Given the description of an element on the screen output the (x, y) to click on. 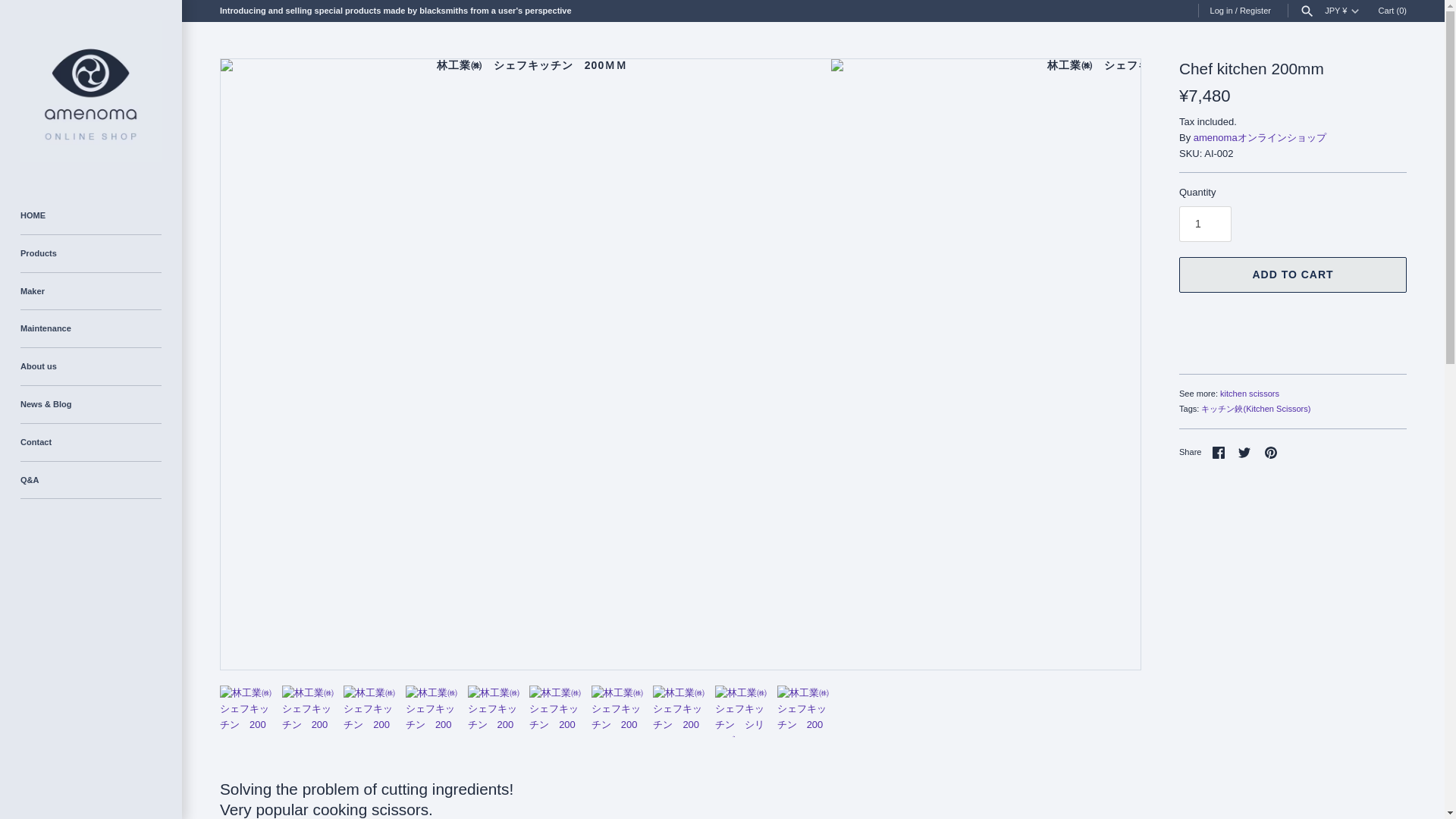
1 (1205, 223)
Twitter (1244, 452)
Products (90, 253)
Facebook (1218, 452)
Log in (1221, 10)
Maker (90, 291)
HOME (90, 216)
kitchen scissors (1249, 393)
Pinterest (1270, 452)
Register (1255, 10)
